Given the description of an element on the screen output the (x, y) to click on. 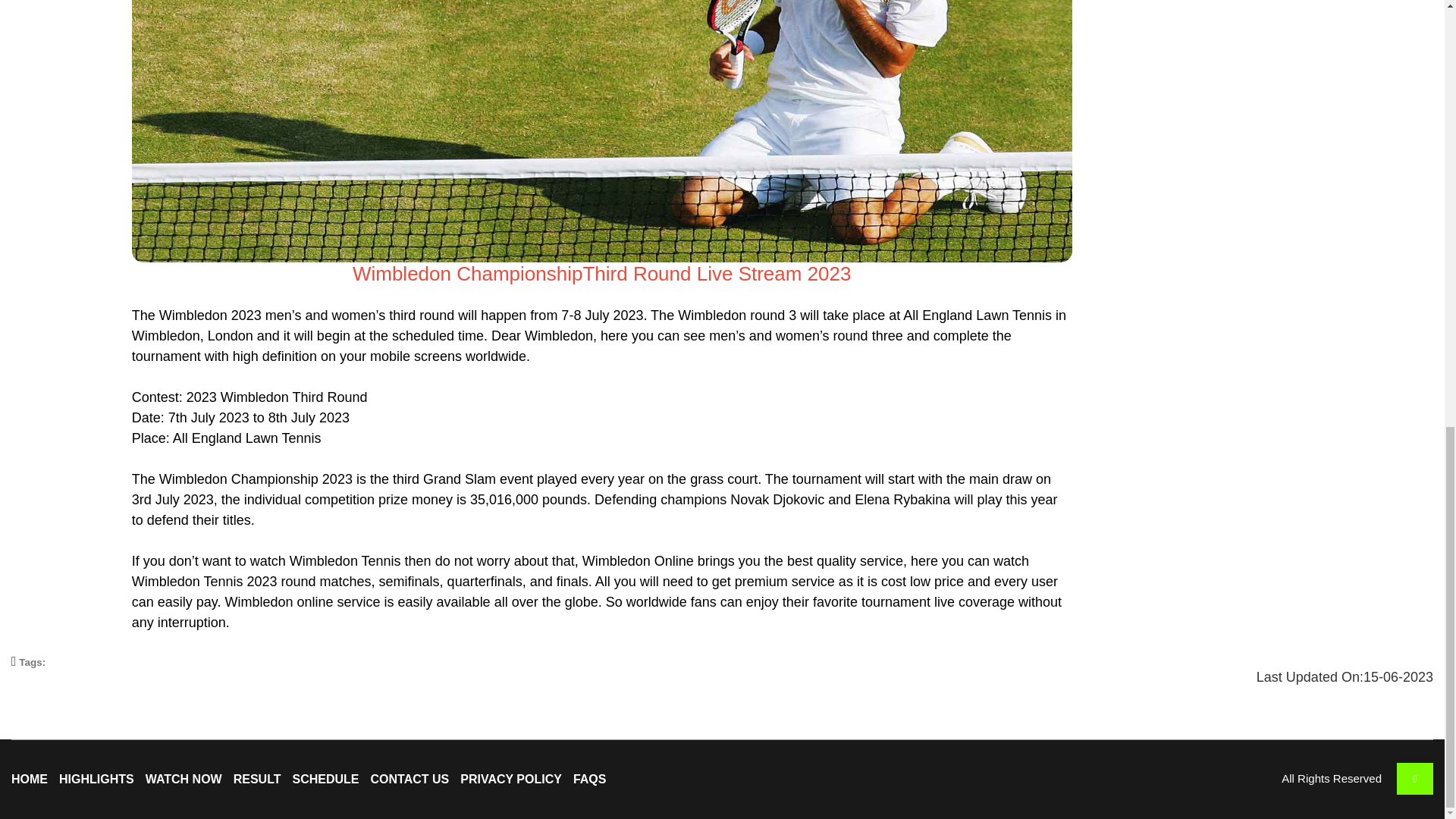
PRIVACY POLICY (511, 779)
Wimbledon ChampionshipThird Round Live Stream 20 (590, 273)
WATCH NOW (183, 779)
SCHEDULE (325, 779)
HOME (29, 779)
RESULT (256, 779)
CONTACT US (410, 779)
FAQS (590, 779)
HIGHLIGHTS (96, 779)
Wimbledon online (278, 601)
